Given the description of an element on the screen output the (x, y) to click on. 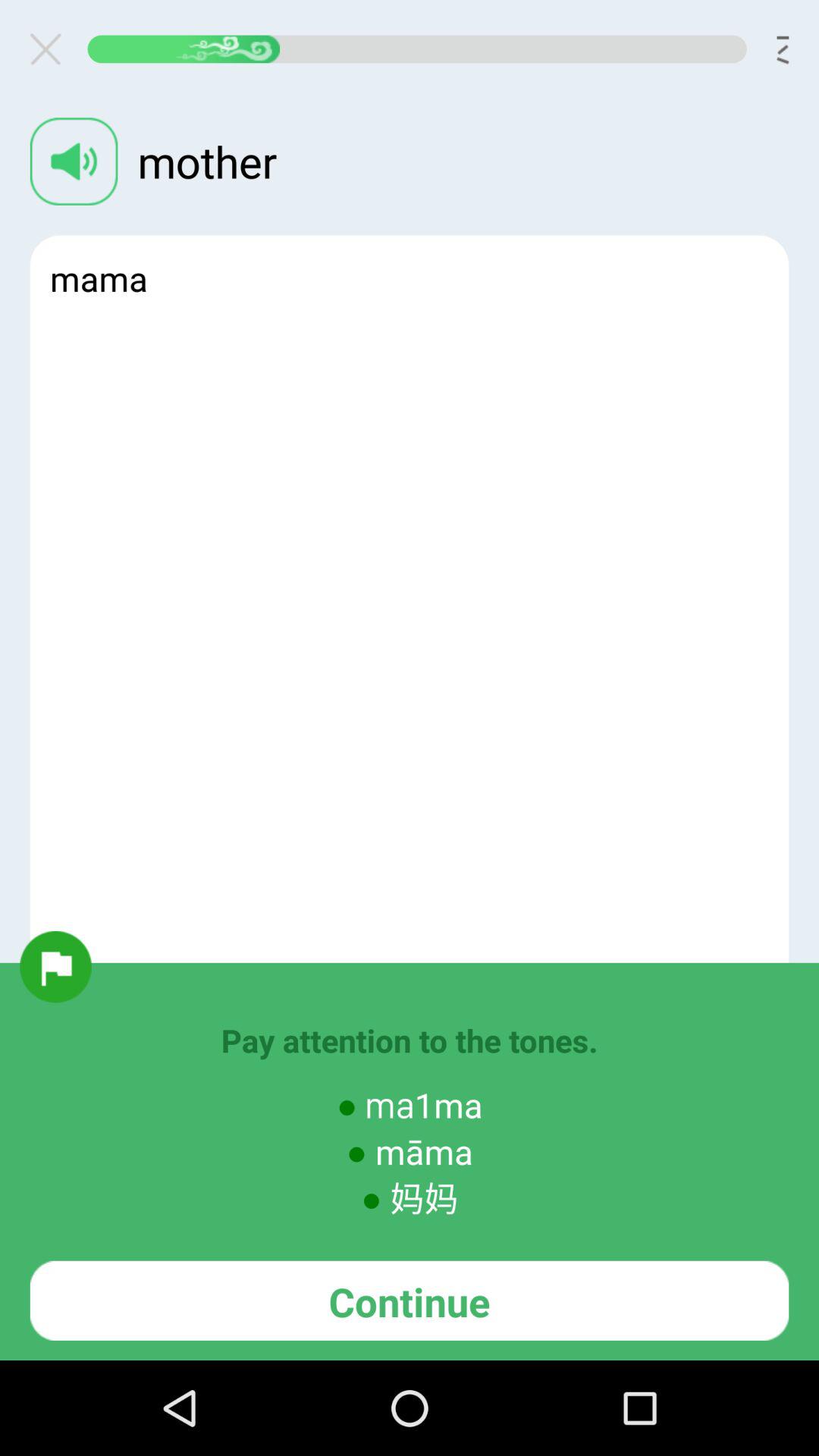
listen to word (73, 161)
